Given the description of an element on the screen output the (x, y) to click on. 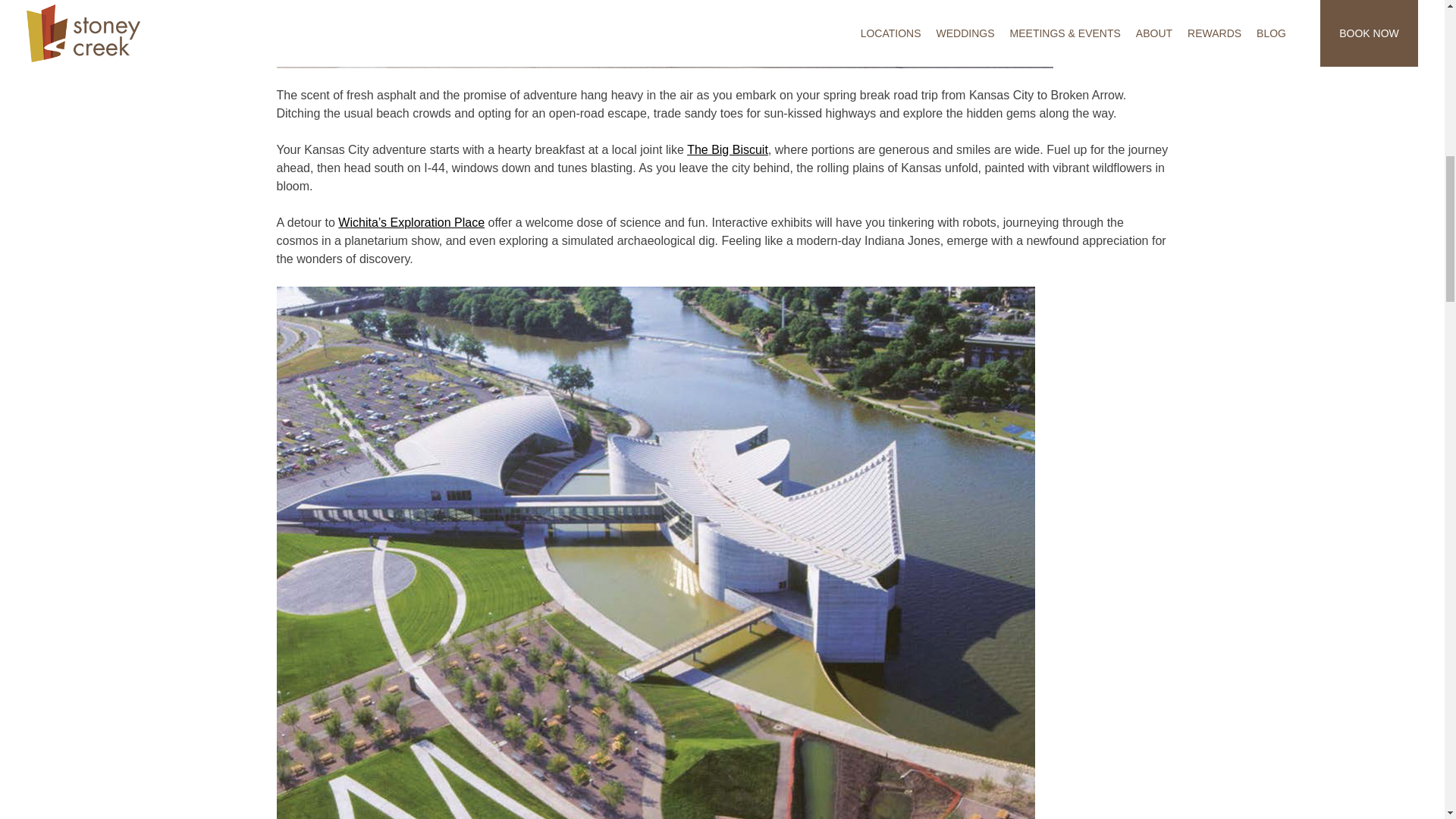
The Big Biscuit (727, 149)
